Given the description of an element on the screen output the (x, y) to click on. 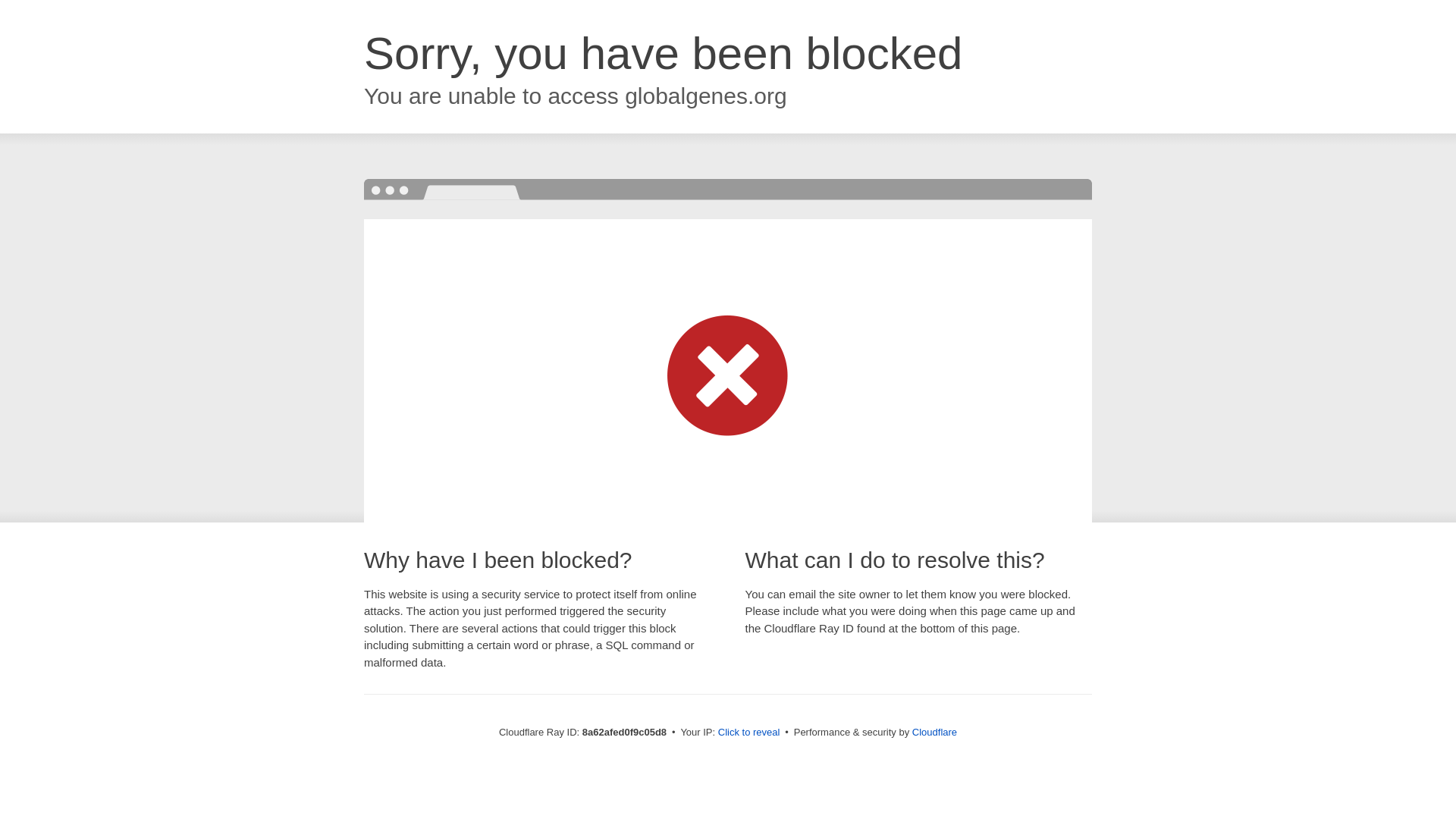
Click to reveal (748, 732)
Cloudflare (934, 731)
